Given the description of an element on the screen output the (x, y) to click on. 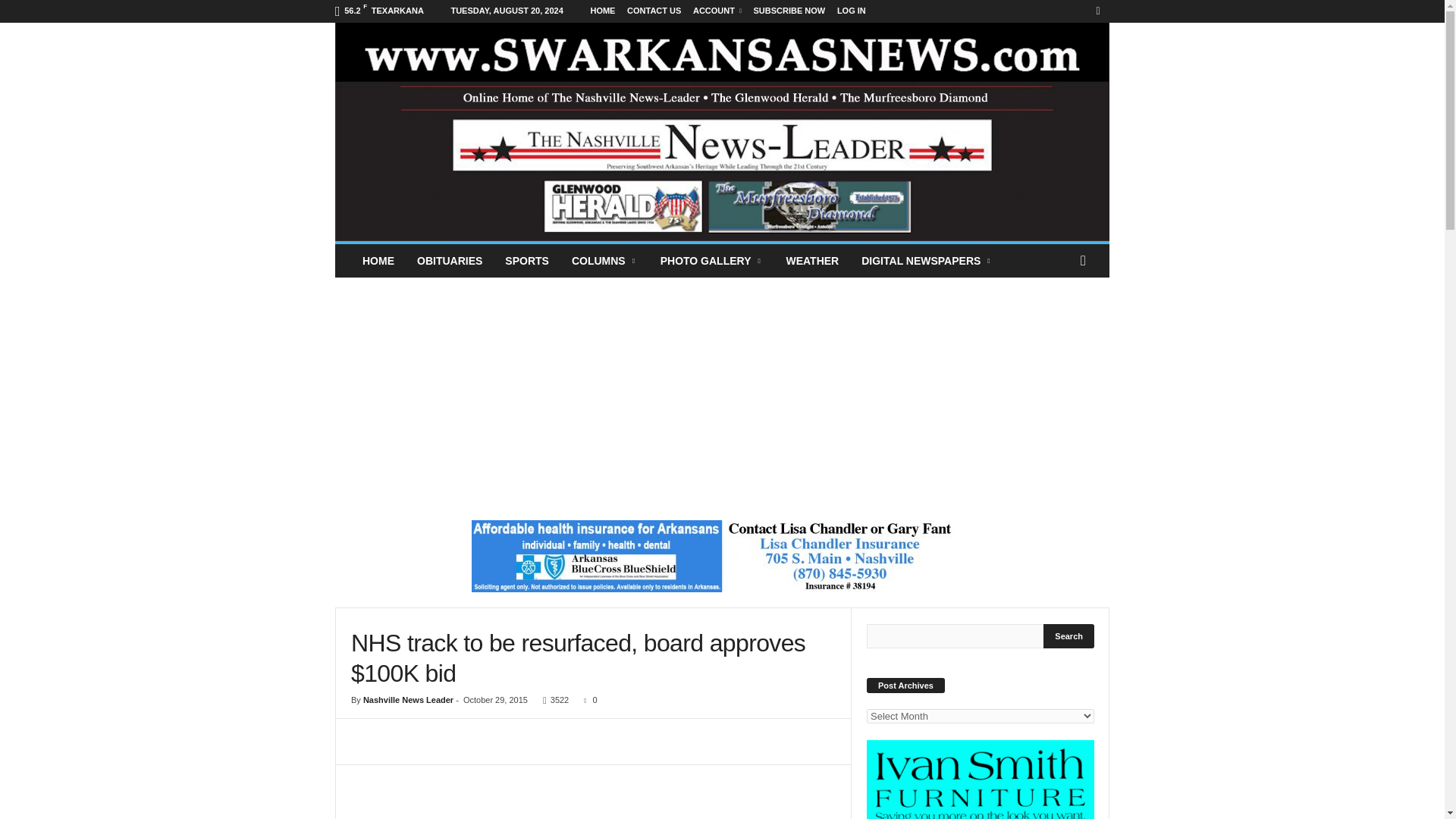
Search (1068, 636)
CONTACT US (654, 10)
ACCOUNT (717, 10)
HOME (601, 10)
OBITUARIES (449, 260)
LOG IN (851, 10)
SUBSCRIBE NOW (789, 10)
HOME (378, 260)
